Given the description of an element on the screen output the (x, y) to click on. 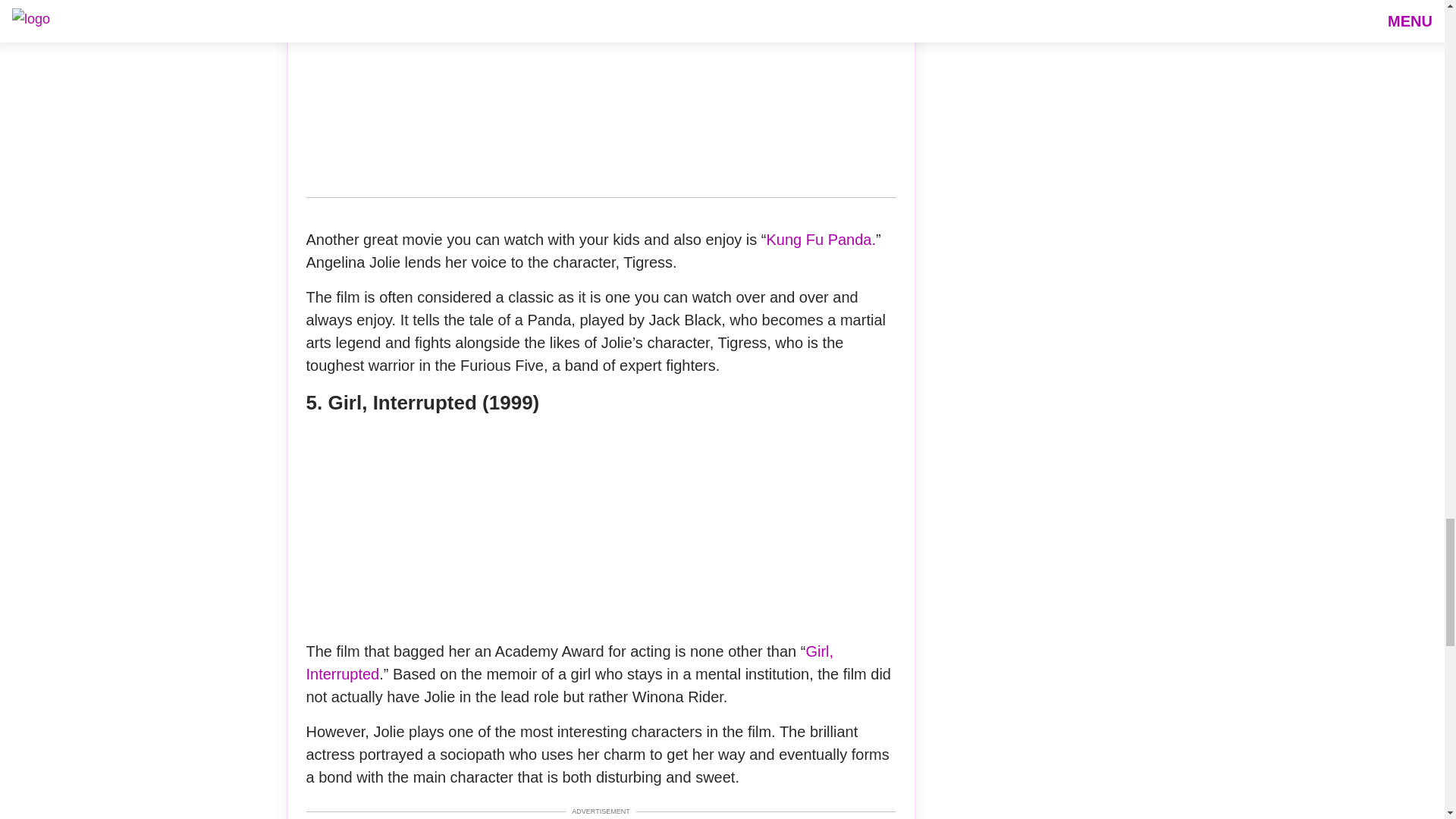
Girl, Interrupted (569, 662)
Kung Fu Panda. (820, 239)
